Given the description of an element on the screen output the (x, y) to click on. 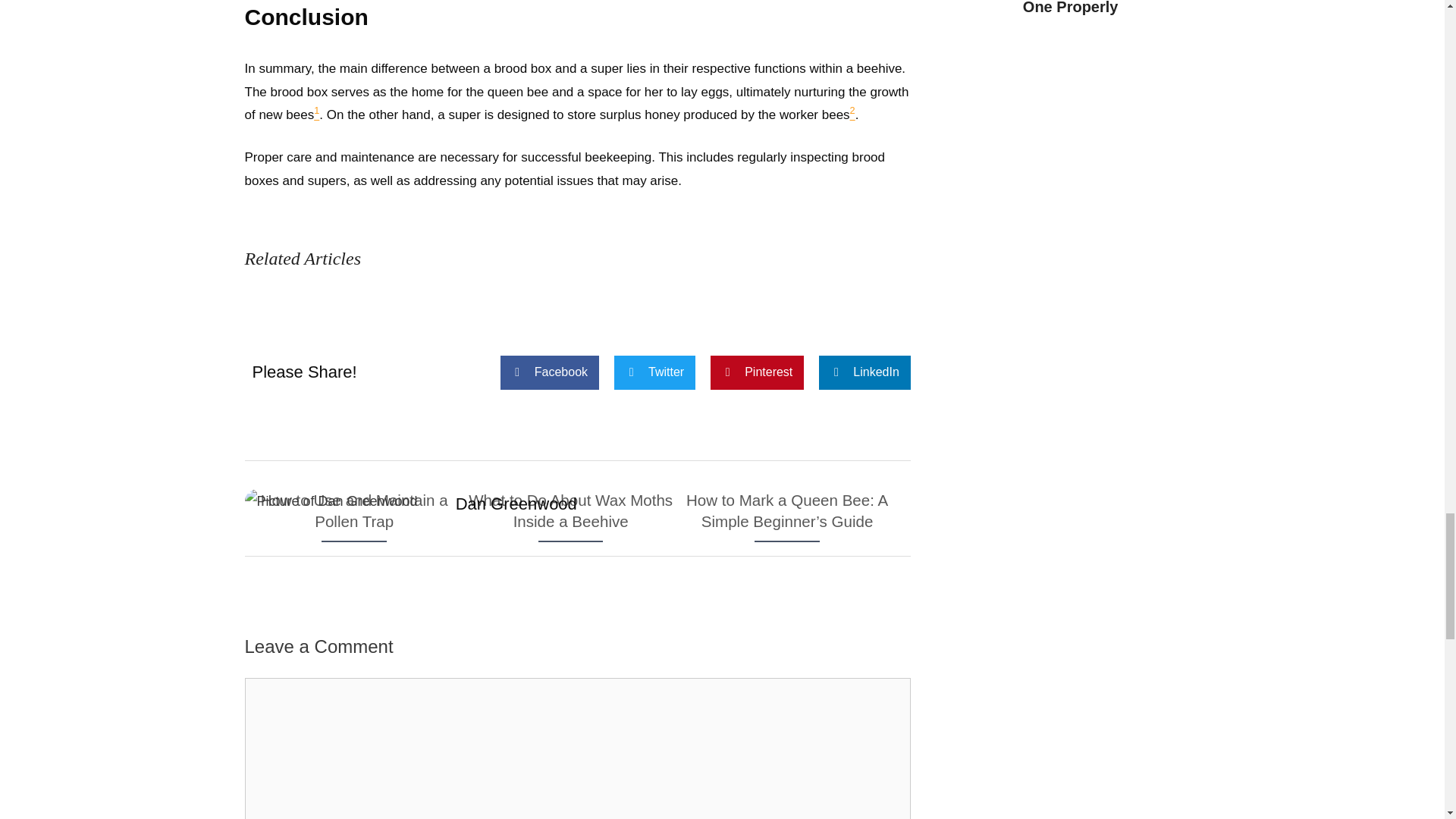
What to Do with Frames and Supers After Extracting Honey (570, 805)
How to Use and Maintain a Pollen Trap (353, 530)
How Big Should A Beehive Entrance Hole Be? (786, 805)
What to Do About Wax Moths Inside a Beehive (570, 530)
Where to Keep Your Beehive: Tips and Advice (353, 805)
